Given the description of an element on the screen output the (x, y) to click on. 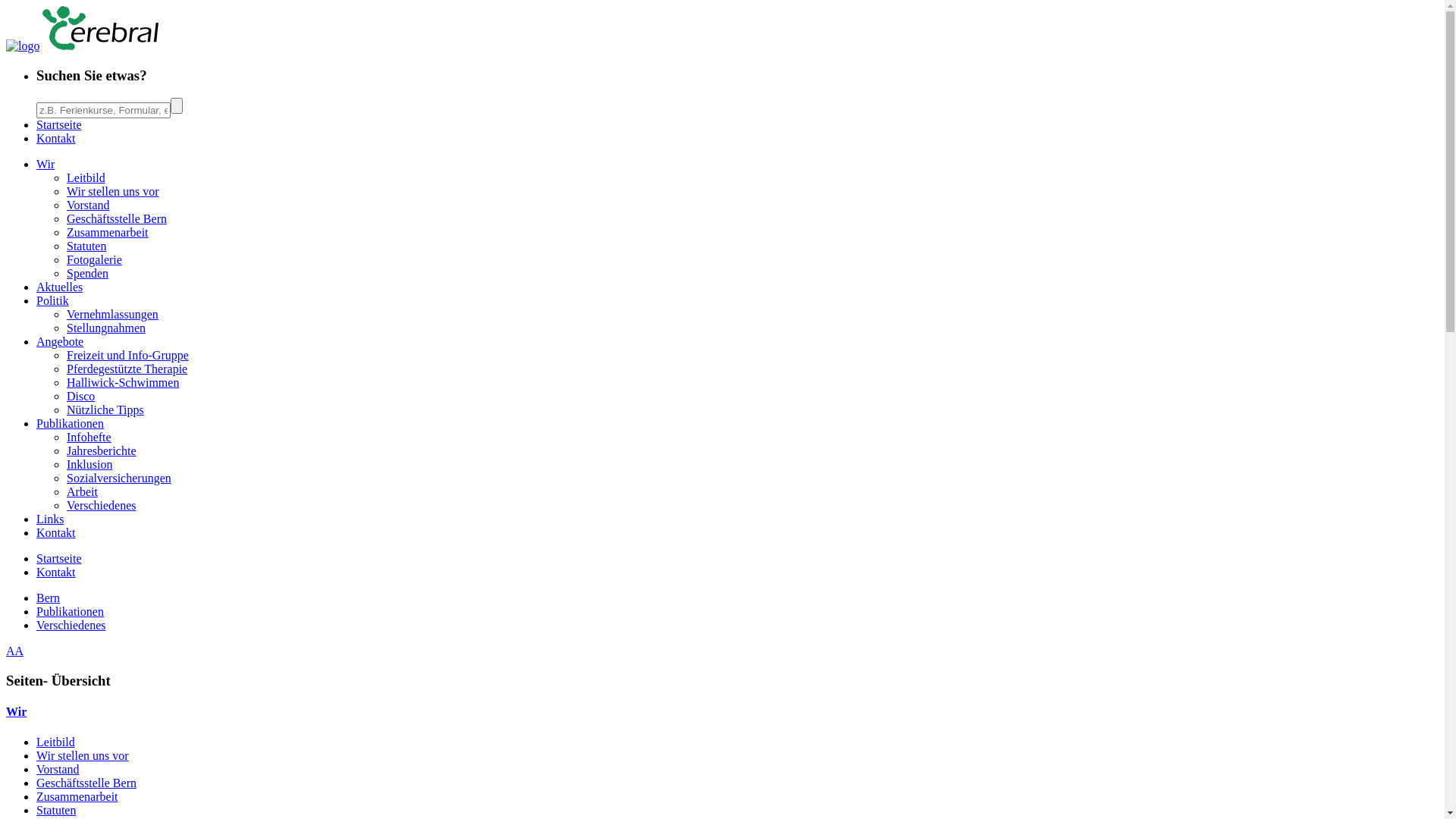
Vernehmlassungen Element type: text (112, 313)
Startseite Element type: text (58, 124)
Startseite Element type: text (58, 558)
Kontakt Element type: text (55, 532)
Sozialversicherungen Element type: text (118, 477)
Kontakt Element type: text (55, 571)
Statuten Element type: text (86, 245)
Politik Element type: text (52, 300)
Vorstand Element type: text (87, 204)
Vorstand Element type: text (57, 768)
Stellungnahmen Element type: text (105, 327)
Verschiedenes Element type: text (101, 504)
Wir Element type: text (45, 163)
Leitbild Element type: text (85, 177)
Publikationen Element type: text (69, 423)
Wir stellen uns vor Element type: text (112, 191)
Spenden Element type: text (87, 272)
Arbeit Element type: text (81, 491)
Inklusion Element type: text (89, 464)
Angebote Element type: text (59, 341)
Statuten Element type: text (55, 809)
Aktuelles Element type: text (59, 286)
Fotogalerie Element type: text (94, 259)
Kontakt Element type: text (55, 137)
Publikationen Element type: text (69, 611)
AA Element type: text (14, 650)
Zusammenarbeit Element type: text (77, 796)
Wir stellen uns vor Element type: text (82, 755)
Jahresberichte Element type: text (101, 450)
Verschiedenes Element type: text (71, 624)
Bern Element type: text (47, 597)
Disco Element type: text (80, 395)
Infohefte Element type: text (88, 436)
Leitbild Element type: text (55, 741)
Halliwick-Schwimmen Element type: text (122, 382)
Links Element type: text (49, 518)
Zusammenarbeit Element type: text (107, 231)
Freizeit und Info-Gruppe Element type: text (127, 354)
Wir Element type: text (722, 711)
